Given the description of an element on the screen output the (x, y) to click on. 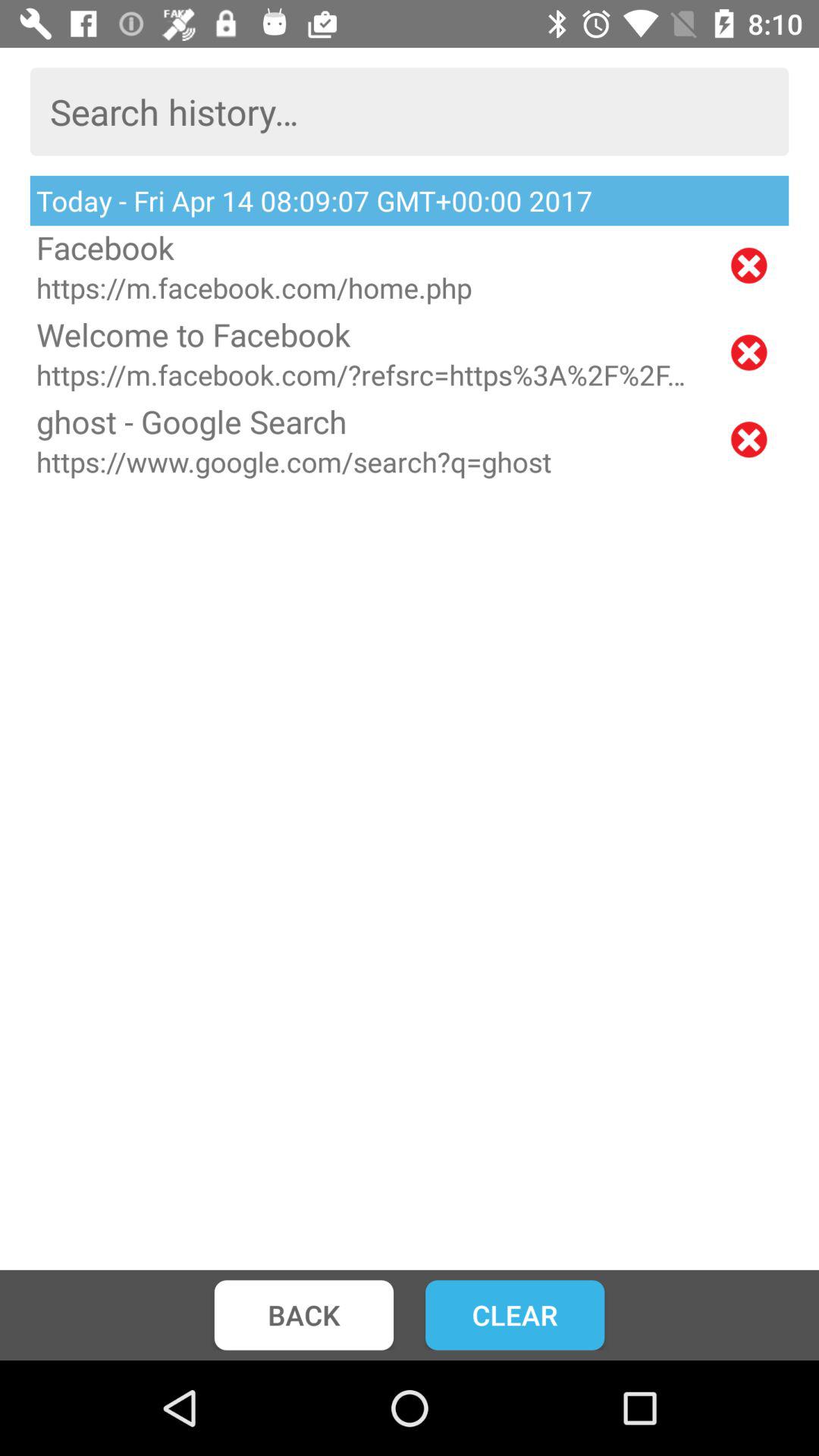
turn on item next to the clear item (303, 1315)
